Given the description of an element on the screen output the (x, y) to click on. 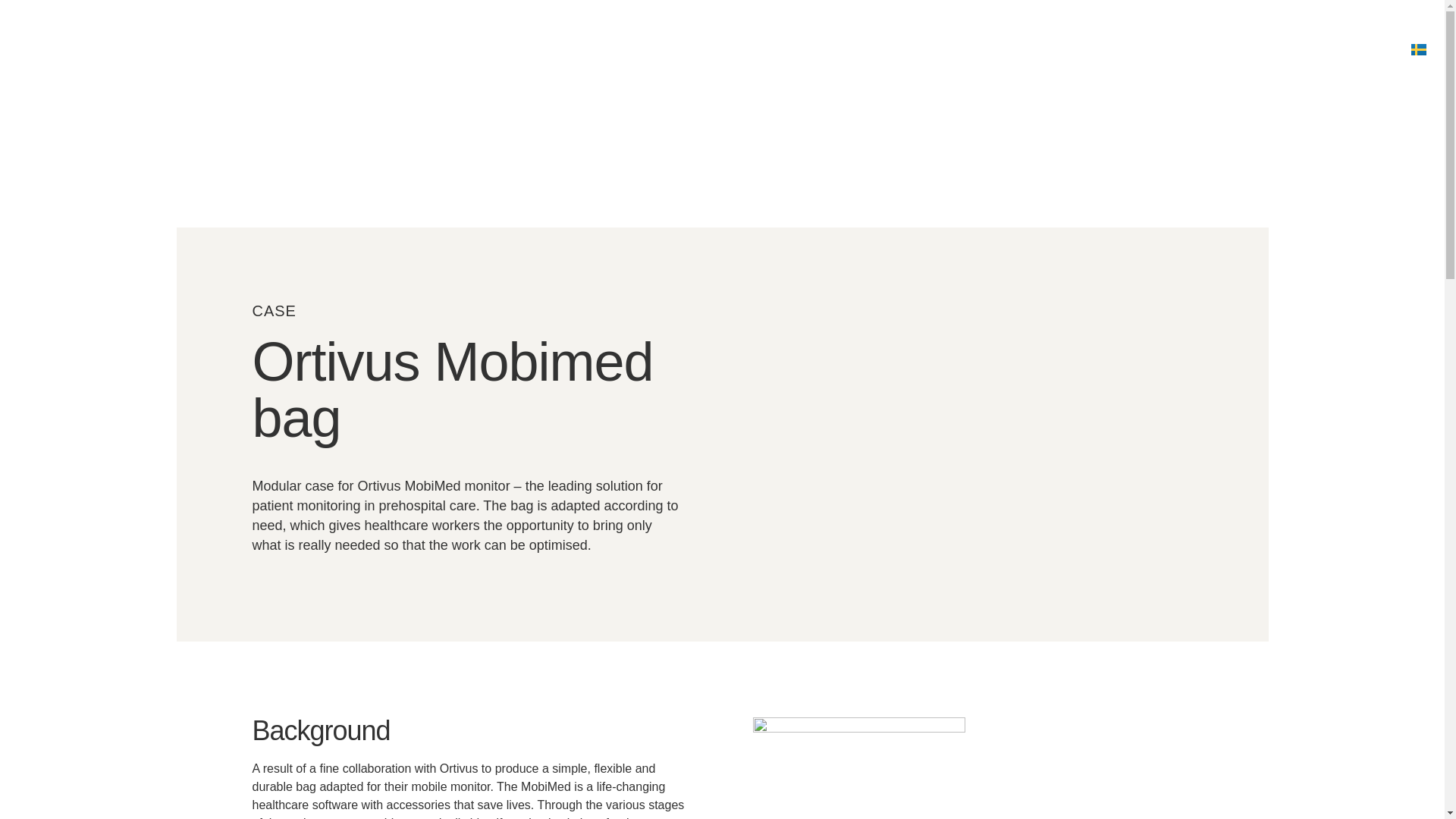
Contact (1243, 48)
About Sacci (1154, 48)
Production (994, 48)
Development (892, 48)
Case (1072, 48)
Sacci Pro (1326, 48)
